Given the description of an element on the screen output the (x, y) to click on. 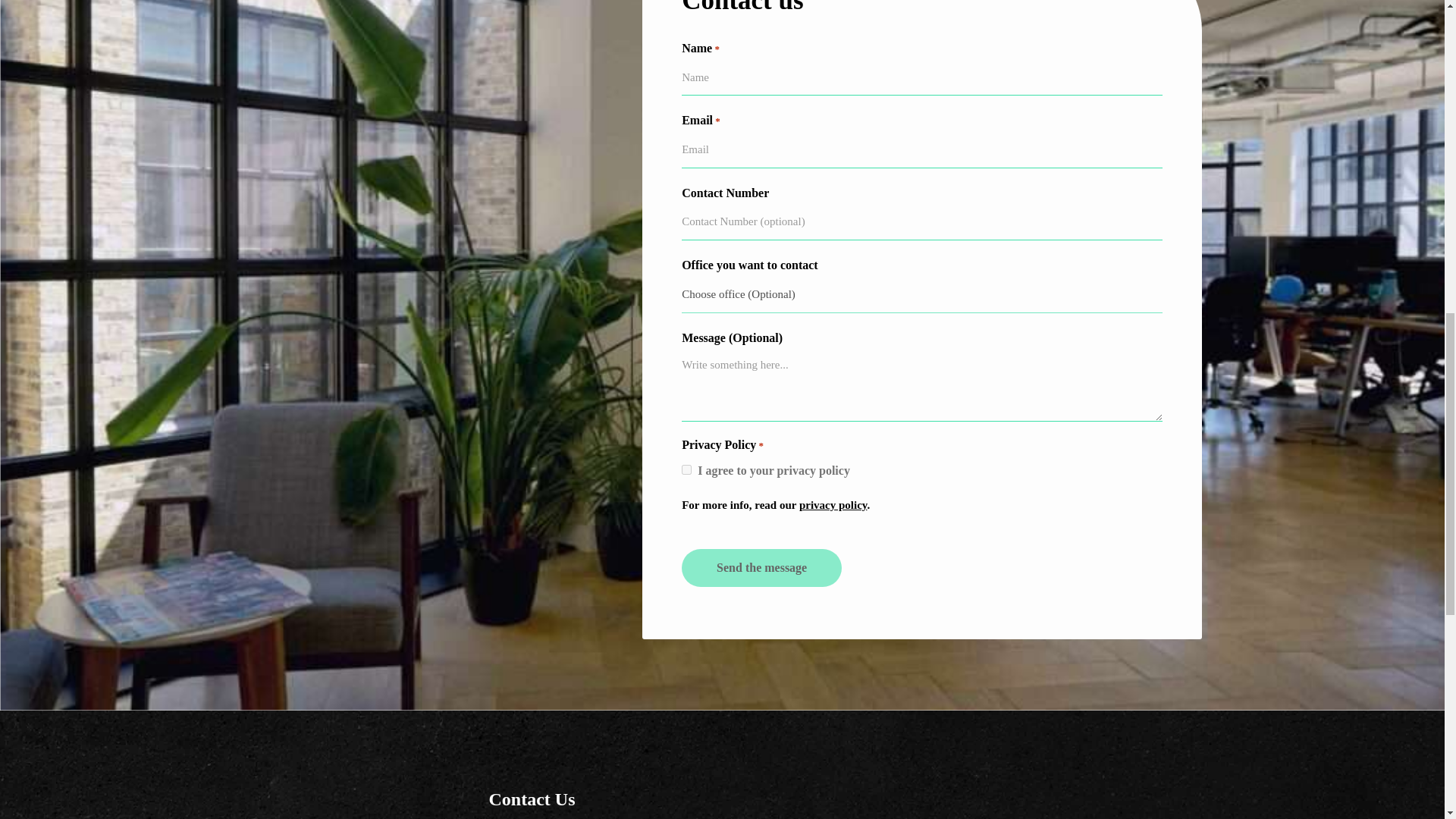
privacy policy (833, 504)
I agree to your privacy policy (686, 470)
Send the message (761, 567)
